Given the description of an element on the screen output the (x, y) to click on. 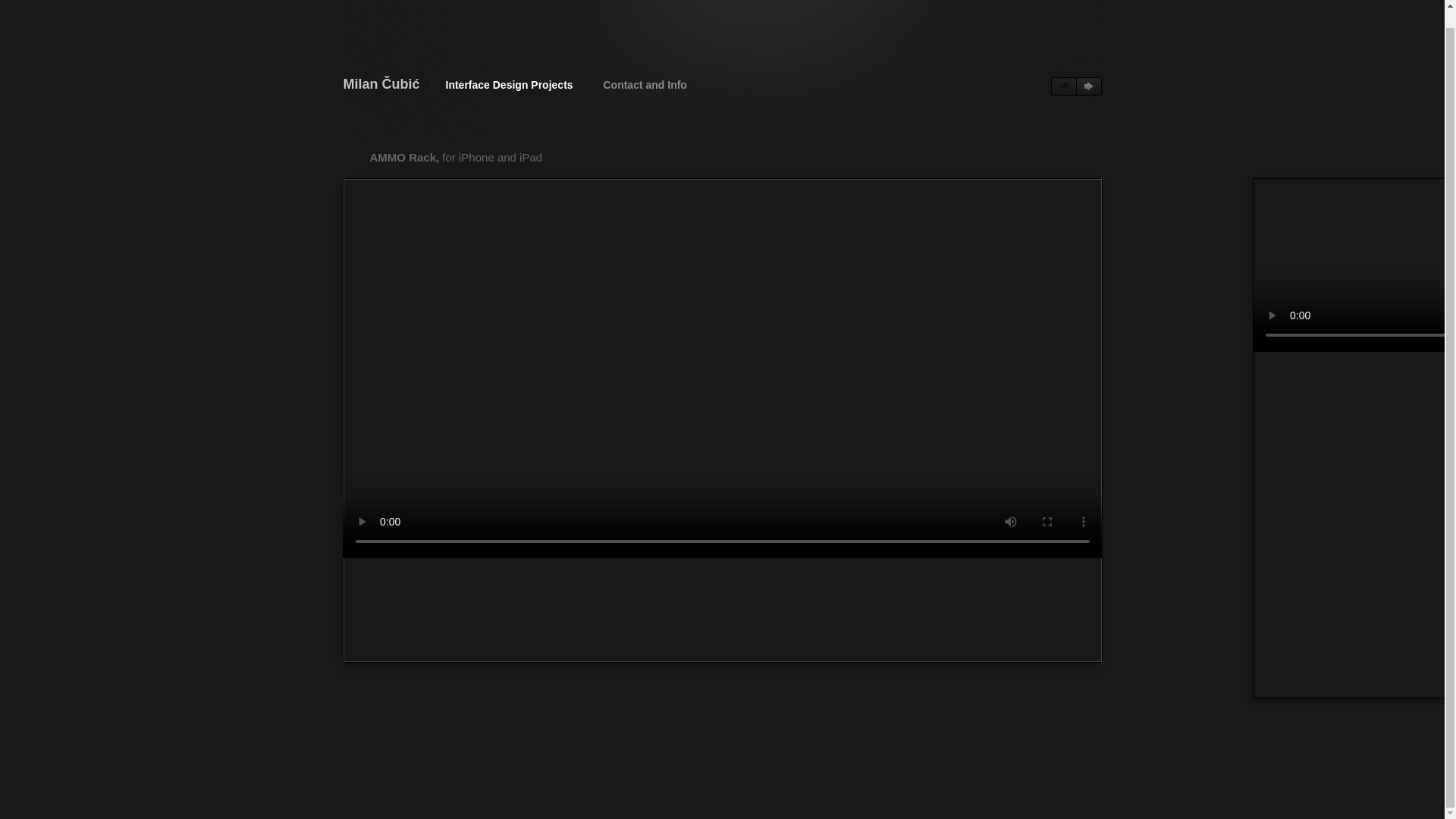
Contact and Info (643, 84)
AMMO Rack, for iPhone and iPad (462, 157)
Interface Design Projects (509, 84)
